Given the description of an element on the screen output the (x, y) to click on. 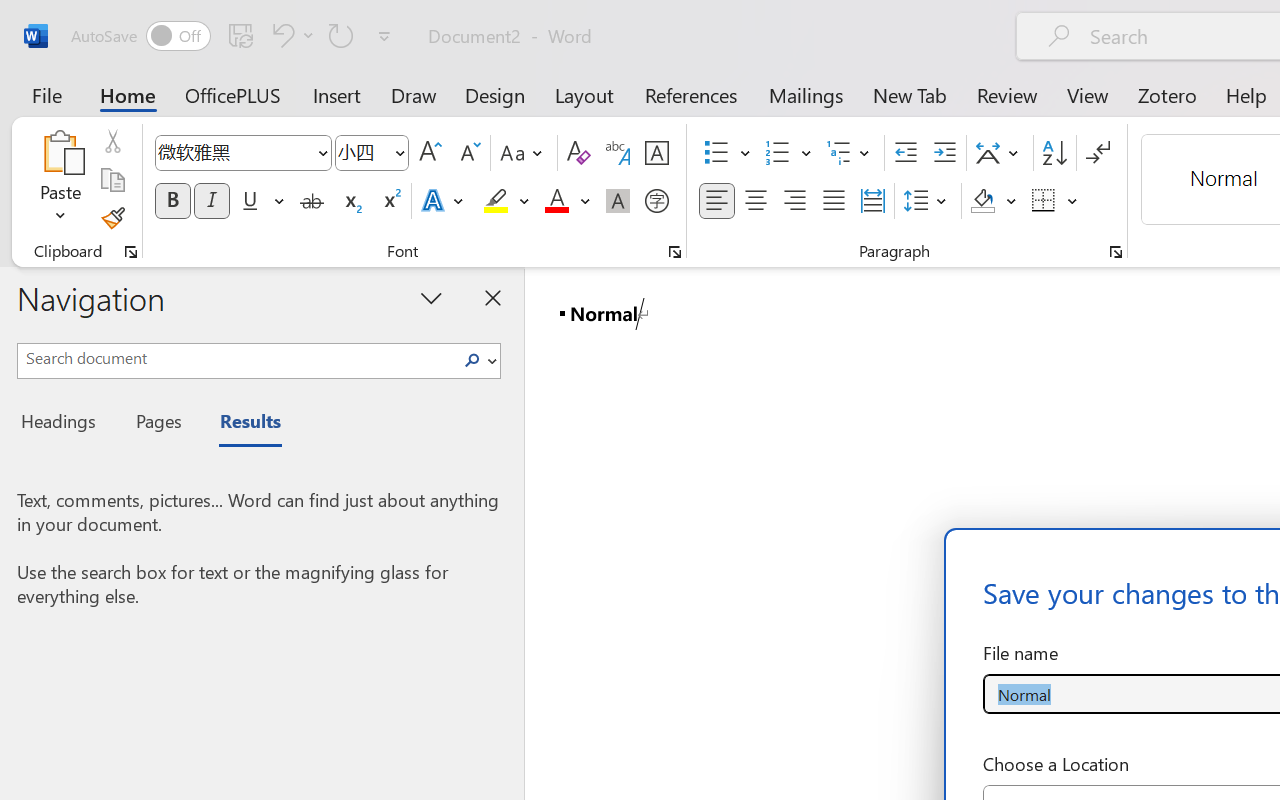
Distributed (872, 201)
Font Color (567, 201)
Headings (64, 424)
Strikethrough (312, 201)
Character Shading (618, 201)
Grow Font (430, 153)
Justify (834, 201)
File Tab (46, 94)
Home (127, 94)
Mailings (806, 94)
Phonetic Guide... (618, 153)
Results (240, 424)
Undo Style (290, 35)
